Given the description of an element on the screen output the (x, y) to click on. 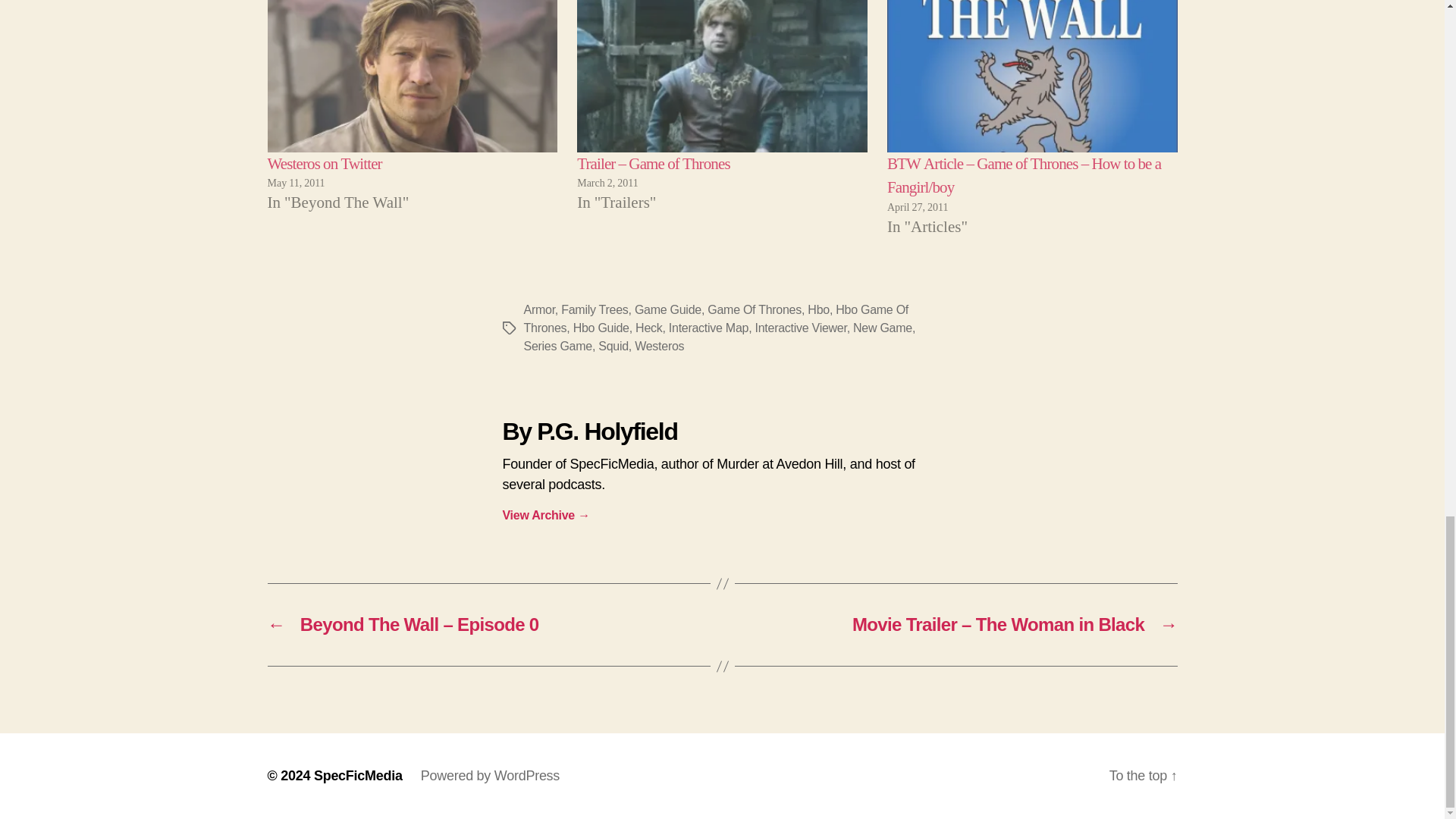
Westeros on Twitter (323, 163)
Westeros on Twitter (411, 76)
